Given the description of an element on the screen output the (x, y) to click on. 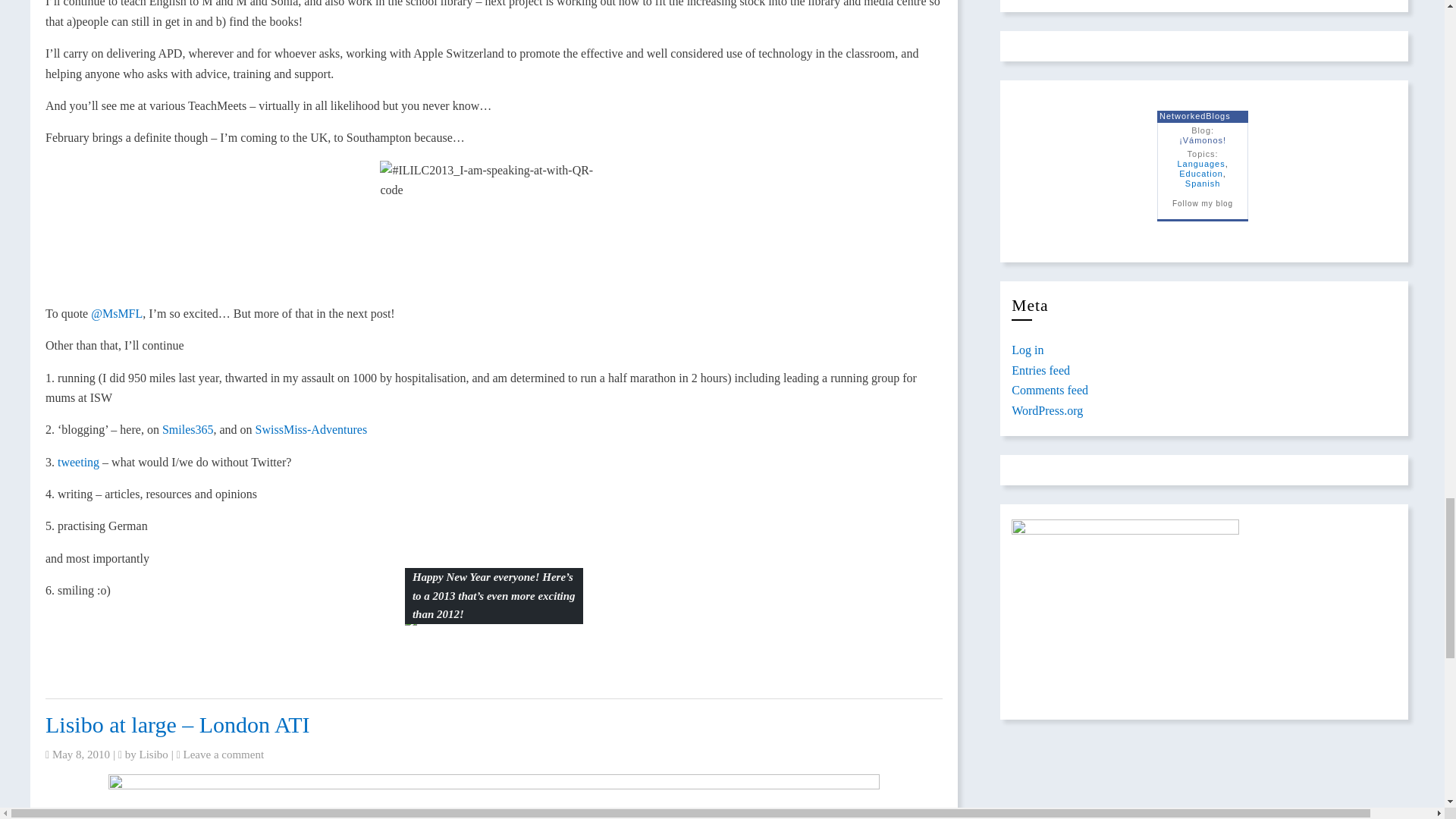
tweeting (78, 461)
Leave a comment (223, 754)
SwissMiss-Adventures (312, 429)
Screen shot 2010-05-08 at 13.51.21 (493, 796)
Lisibo (153, 754)
Smiles365 (187, 429)
